Given the description of an element on the screen output the (x, y) to click on. 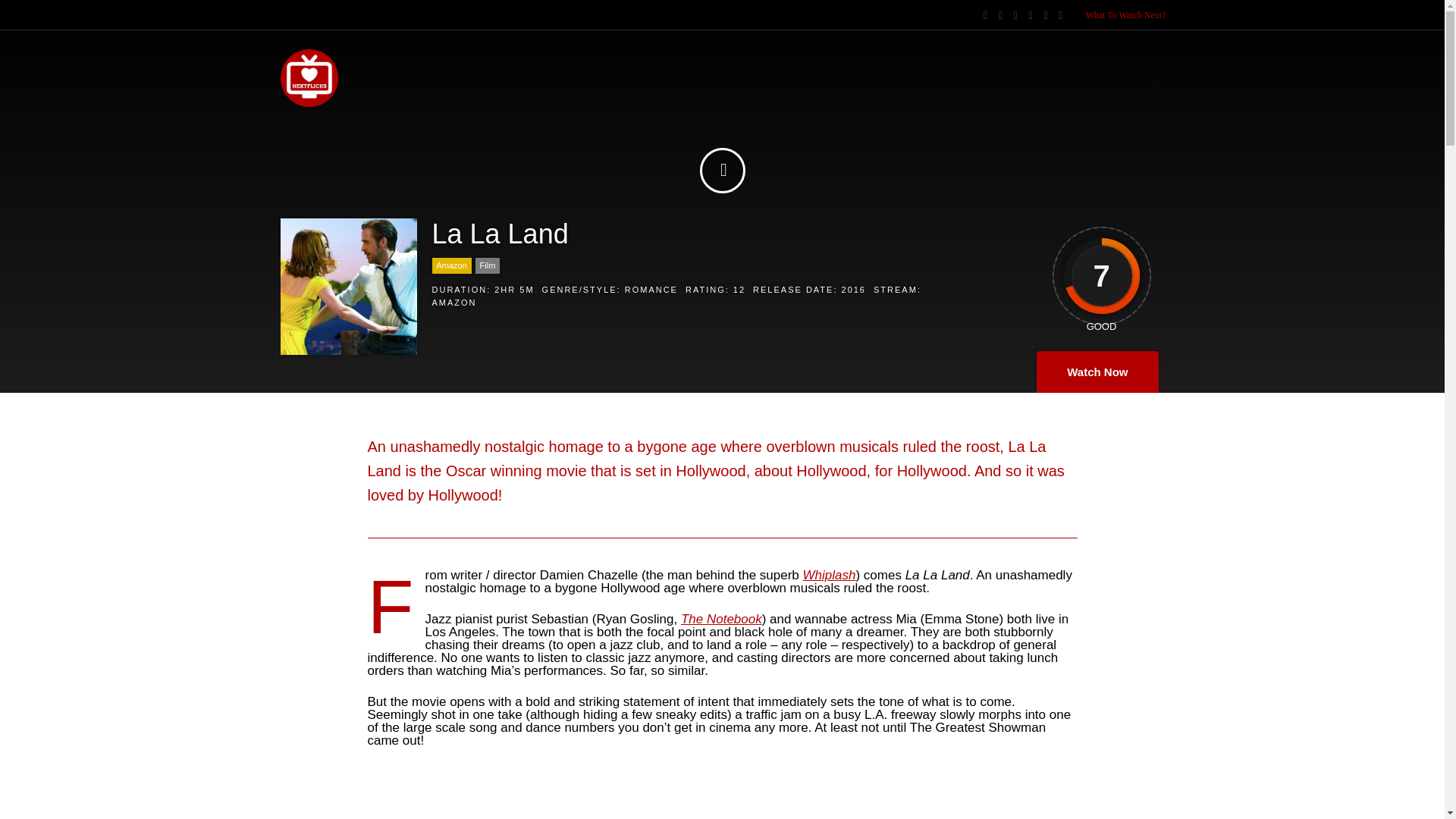
What To Watch Next? (1125, 15)
NextFlicks (309, 104)
Ryan Gosling and Emma Stone talk La La Land (721, 798)
